Given the description of an element on the screen output the (x, y) to click on. 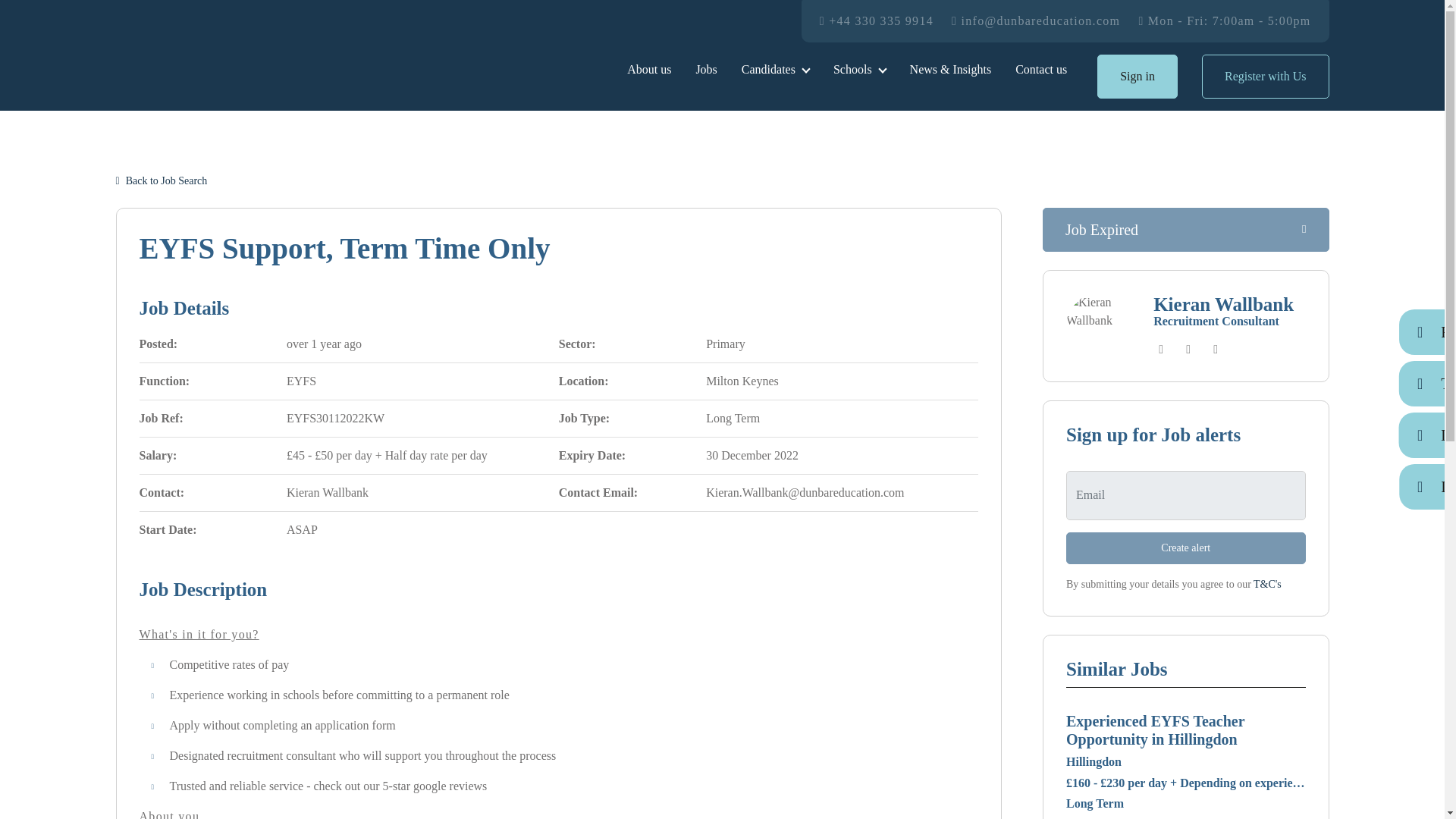
Candidates (775, 69)
Jobs (705, 69)
Sign in (1137, 76)
Back to Job Search (160, 180)
About us (648, 69)
Job Expired (1185, 229)
Kieran Wallbank (1223, 304)
Schools (859, 69)
Primary (725, 343)
Long Term (733, 418)
EYFS (300, 380)
LinkedIn (1215, 349)
Register with Us (1265, 76)
Contact us (1040, 69)
